Given the description of an element on the screen output the (x, y) to click on. 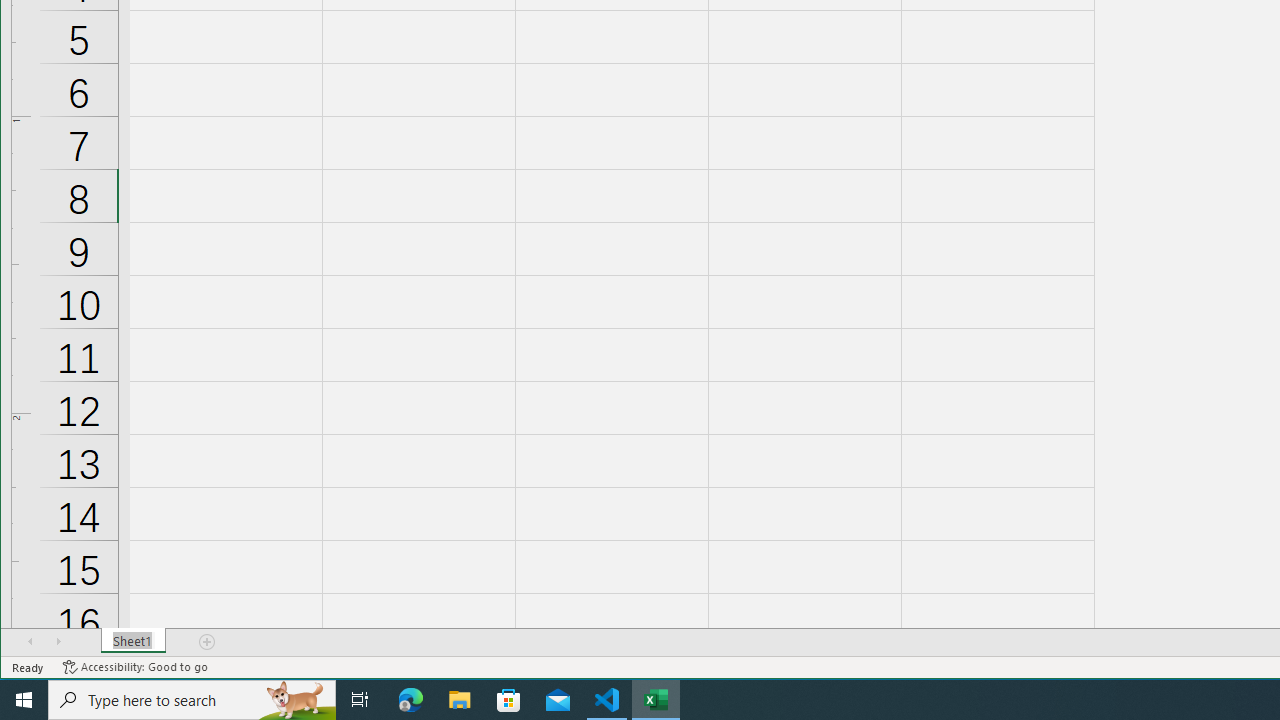
Microsoft Store (509, 699)
Search highlights icon opens search home window (295, 699)
Visual Studio Code - 1 running window (607, 699)
Sheet Tab (133, 641)
Start (24, 699)
Excel - 1 running window (656, 699)
File Explorer (460, 699)
Microsoft Edge (411, 699)
Type here to search (191, 699)
